Given the description of an element on the screen output the (x, y) to click on. 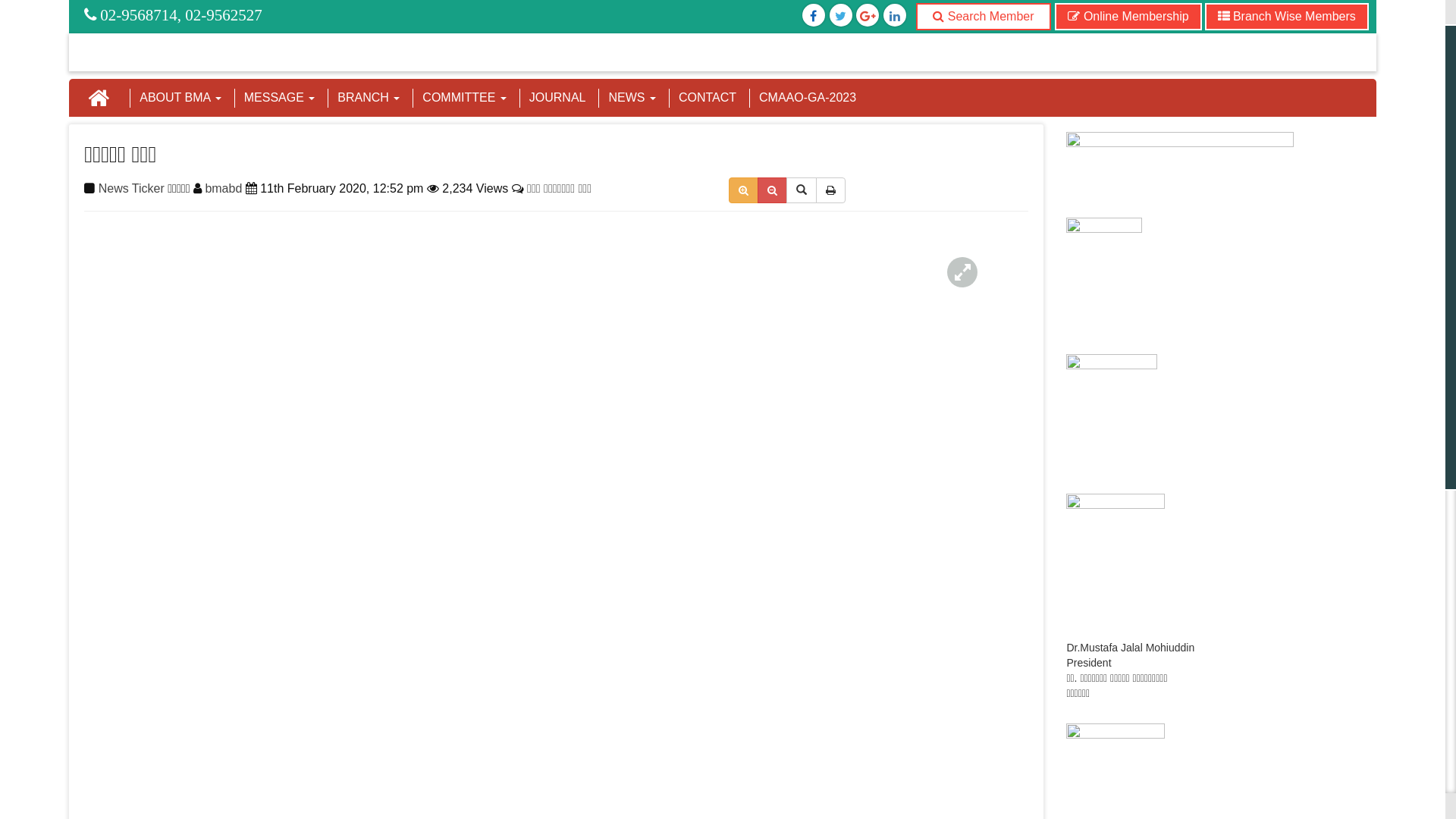
Search Member Element type: text (983, 16)
MESSAGE Element type: text (279, 97)
bmabd Element type: text (222, 188)
News Ticker Element type: text (131, 188)
Online Membership Element type: text (1127, 16)
Google plus Element type: hover (867, 16)
JOURNAL Element type: text (557, 97)
Linkedin Element type: hover (894, 16)
COMMITTEE Element type: text (464, 97)
NEWS Element type: text (631, 97)
BRANCH Element type: text (368, 97)
Home Element type: hover (98, 97)
Branch Wise Members Element type: text (1286, 16)
CMAAO-GA-2023 Element type: text (807, 97)
ABOUT BMA Element type: text (180, 97)
Twitter  Element type: hover (813, 16)
Twitter  Element type: hover (840, 16)
CONTACT Element type: text (707, 97)
